Given the description of an element on the screen output the (x, y) to click on. 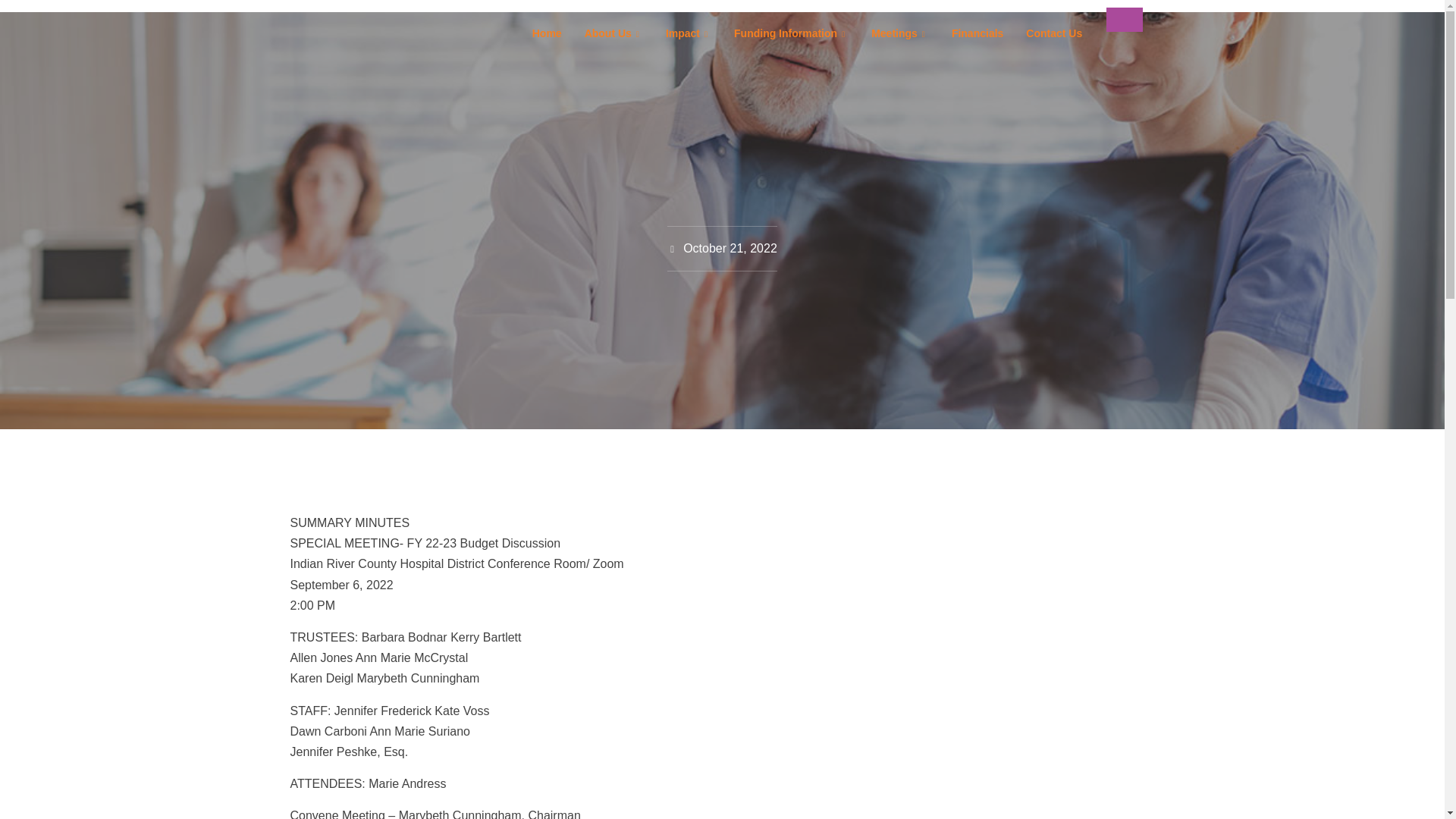
Financials (977, 33)
Meetings (900, 33)
Home (547, 33)
October 21, 2022 (721, 248)
Contact Us (1053, 33)
Impact (687, 33)
Funding Information (791, 33)
About Us (613, 33)
